Given the description of an element on the screen output the (x, y) to click on. 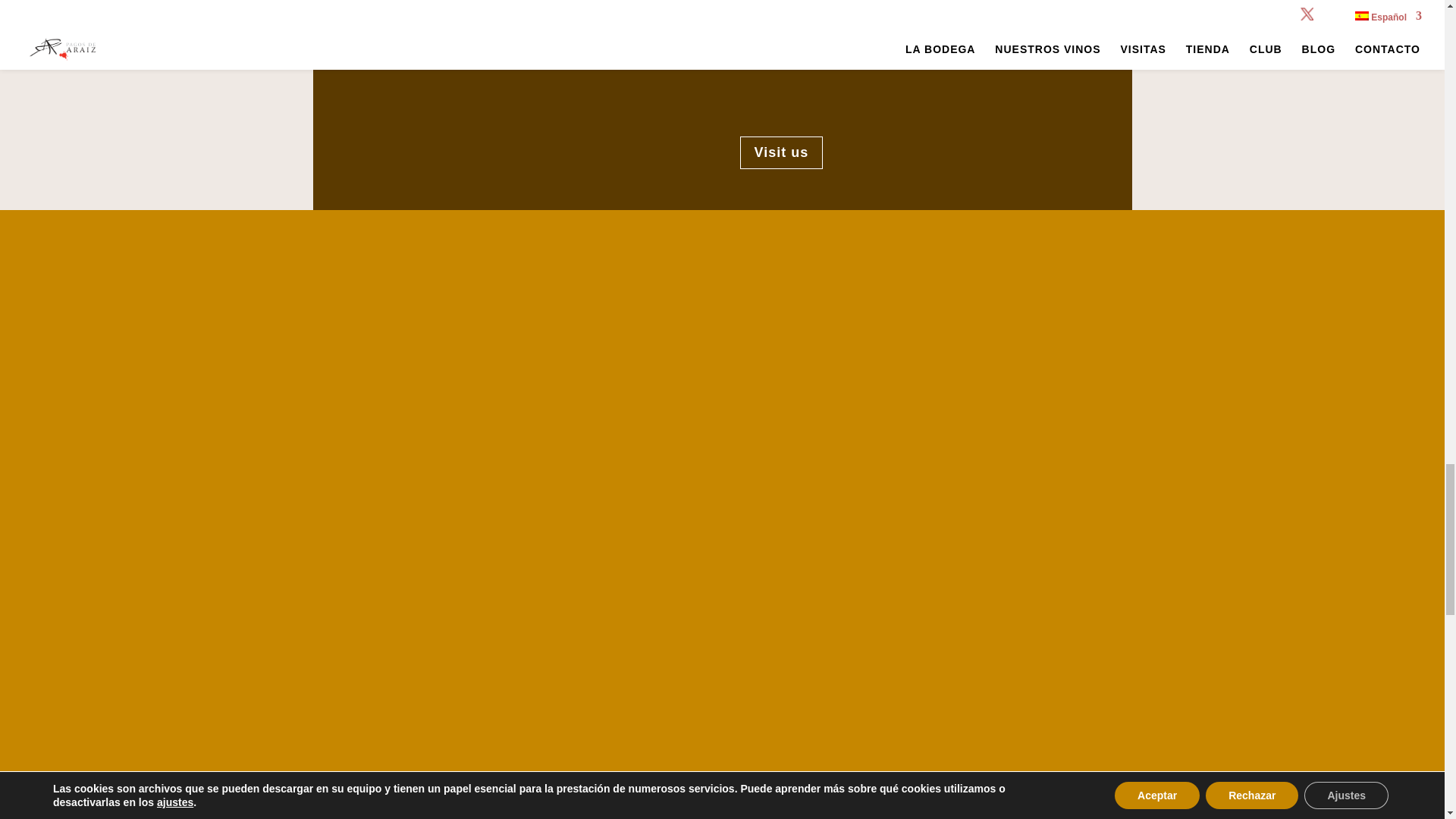
Visit us (781, 152)
